Given the description of an element on the screen output the (x, y) to click on. 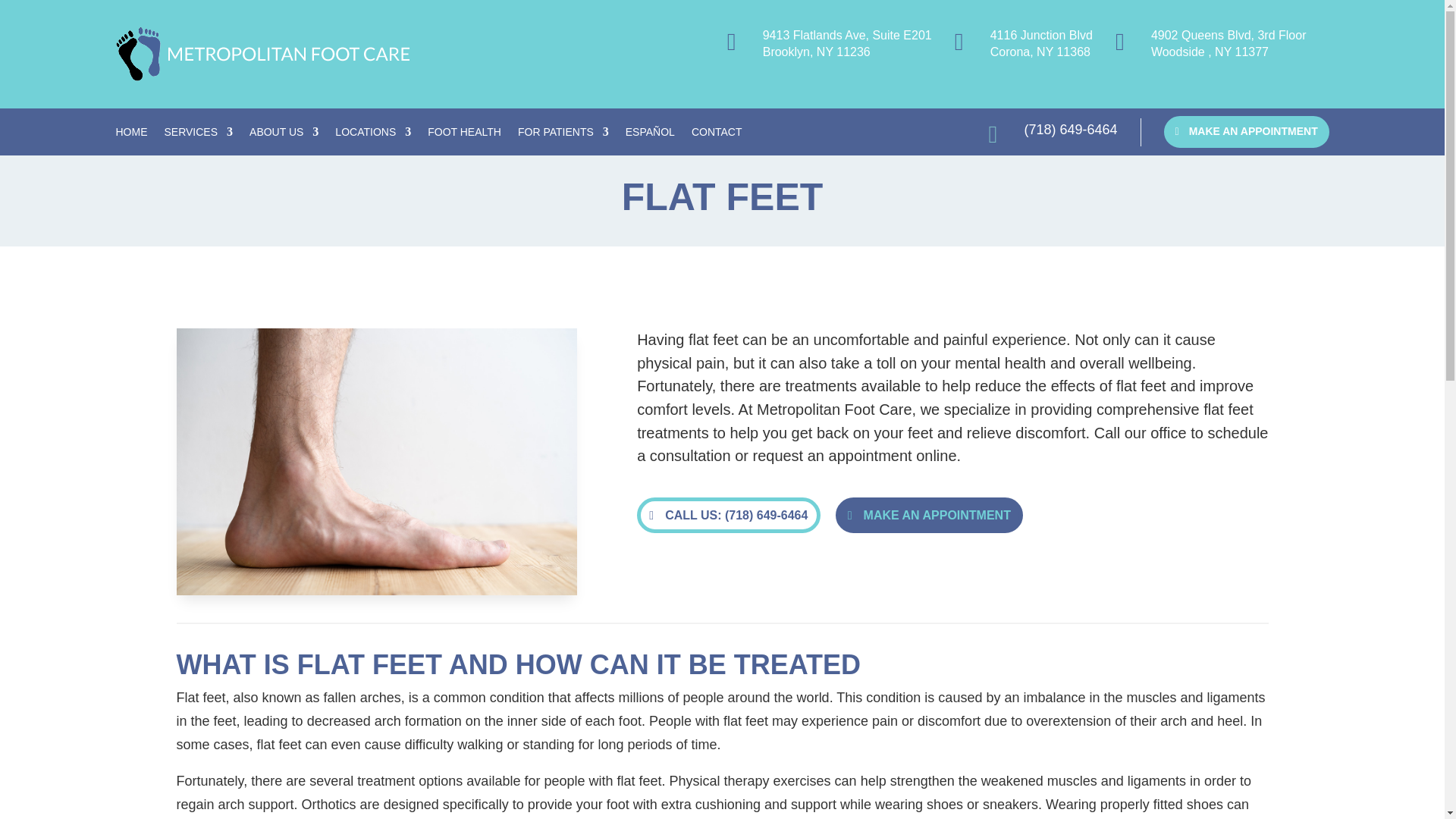
SERVICES (197, 134)
CONTACT (716, 134)
board-certified-podiatrist-corona (262, 54)
HOME (131, 134)
ABOUT US (283, 134)
FOR PATIENTS (563, 134)
FOOT HEALTH (464, 134)
LOCATIONS (372, 134)
